Given the description of an element on the screen output the (x, y) to click on. 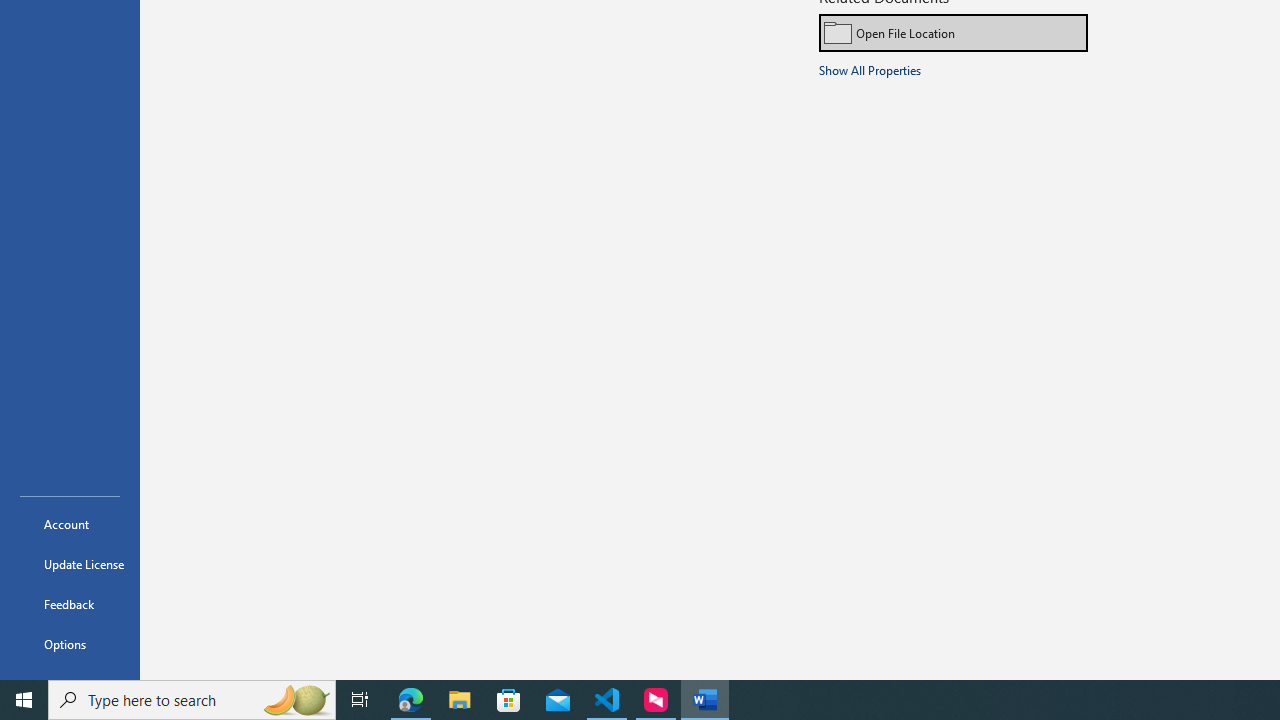
Show All Properties (870, 69)
Options (69, 643)
Feedback (69, 603)
Update License (69, 563)
Open File Location (953, 32)
Account (69, 523)
